Given the description of an element on the screen output the (x, y) to click on. 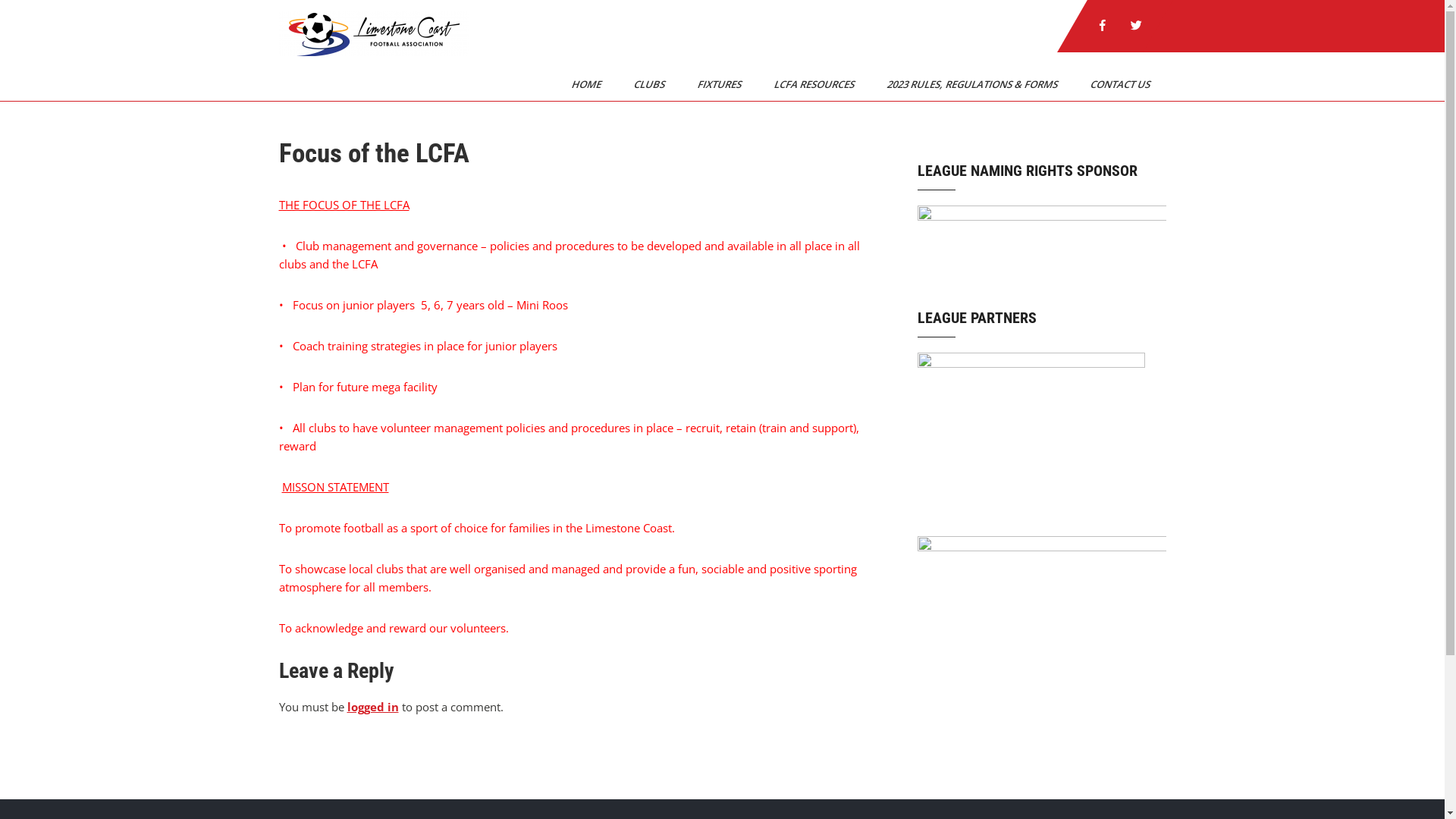
twitter Element type: hover (1135, 25)
CLUBS Element type: text (643, 83)
FIXTURES Element type: text (713, 83)
LCFA RESOURCES Element type: text (808, 83)
LEAGUE NAMING RIGHTS SPONSOR Element type: hover (1041, 245)
facebook Element type: hover (1102, 25)
CONTACT US Element type: text (1114, 83)
2023 RULES, REGULATIONS & FORMS Element type: text (966, 83)
logged in Element type: text (372, 706)
HOME Element type: text (580, 83)
